Given the description of an element on the screen output the (x, y) to click on. 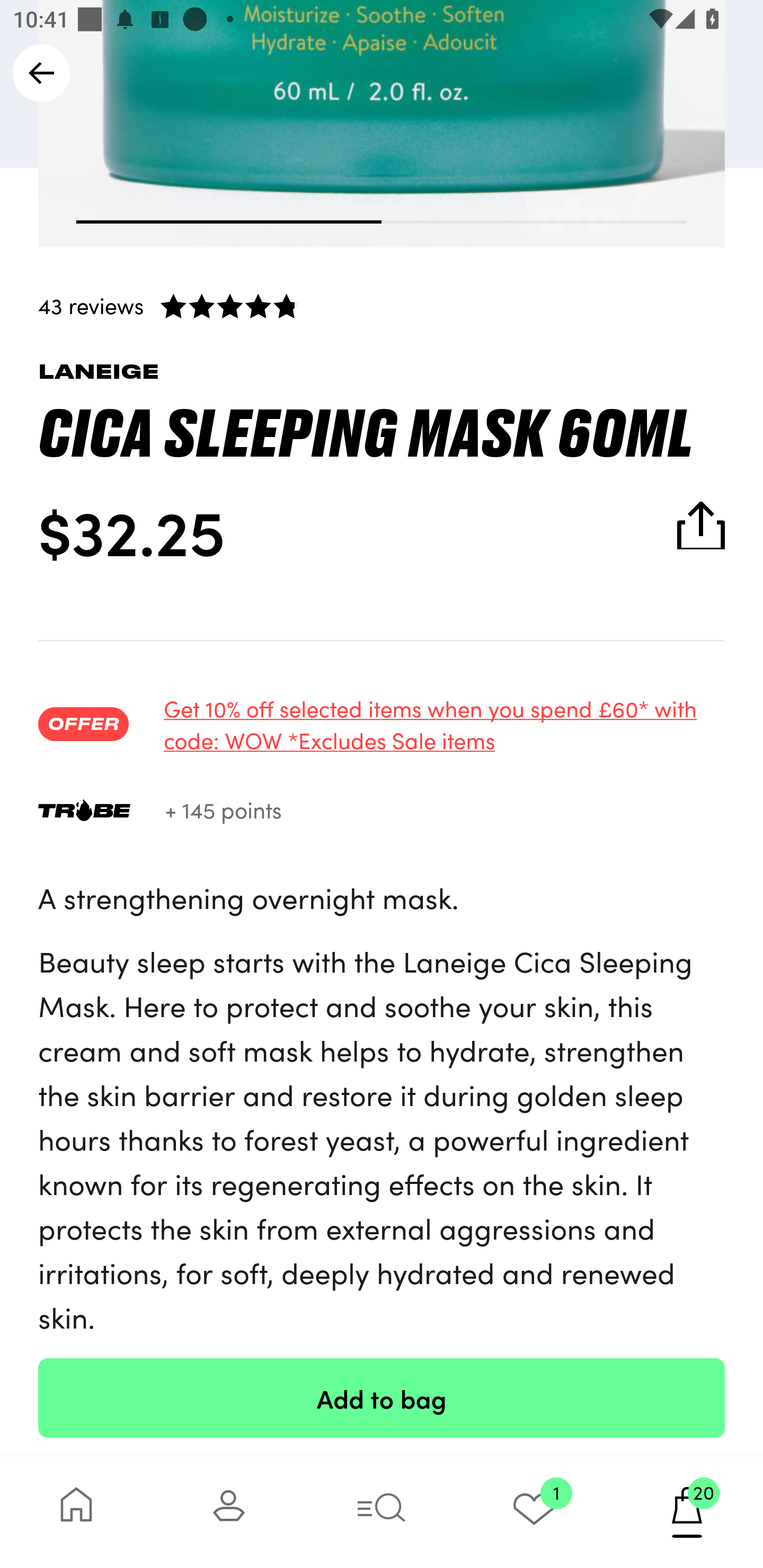
43 reviews (381, 304)
Add to bag (381, 1397)
1 (533, 1512)
20 (686, 1512)
